Given the description of an element on the screen output the (x, y) to click on. 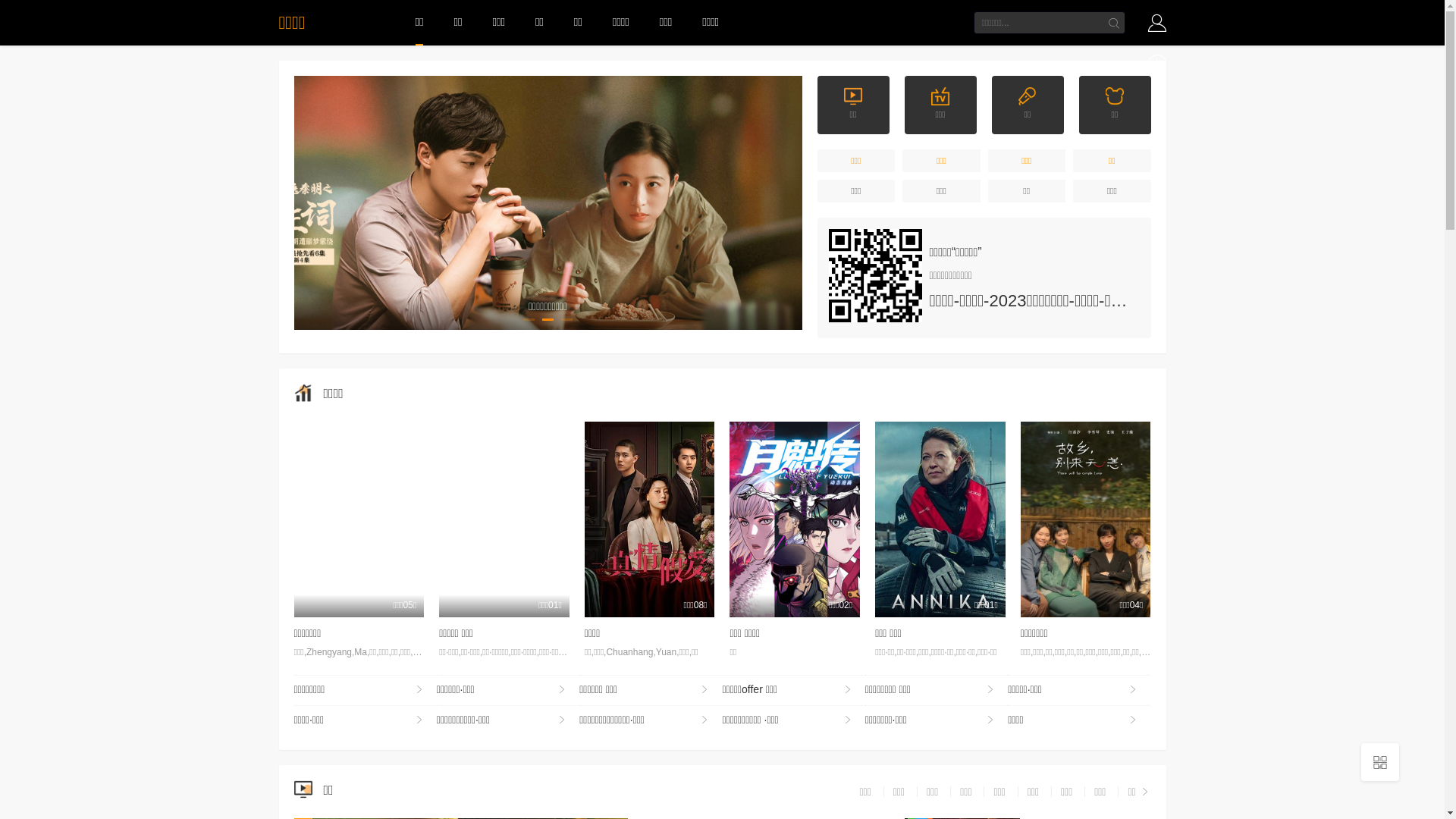
http://xiaohuang.cc/ Element type: hover (874, 275)
